Given the description of an element on the screen output the (x, y) to click on. 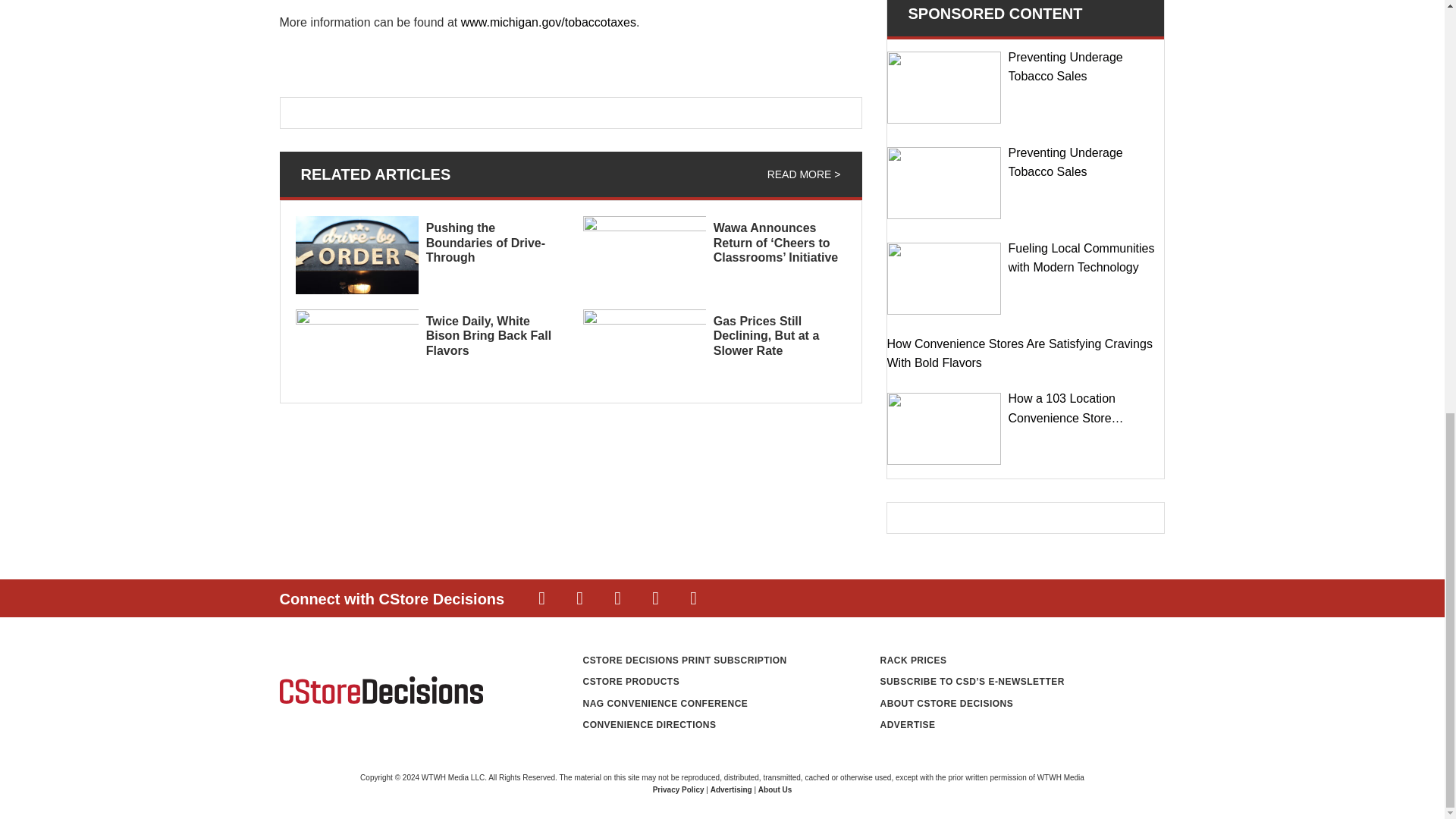
Preventing Underage Tobacco Sales (943, 87)
Fueling Local Communities with Modern Technology (943, 278)
How a 103 Location Convenience Store Enhanced Operations (943, 429)
Preventing Underage Tobacco Sales (943, 183)
